Given the description of an element on the screen output the (x, y) to click on. 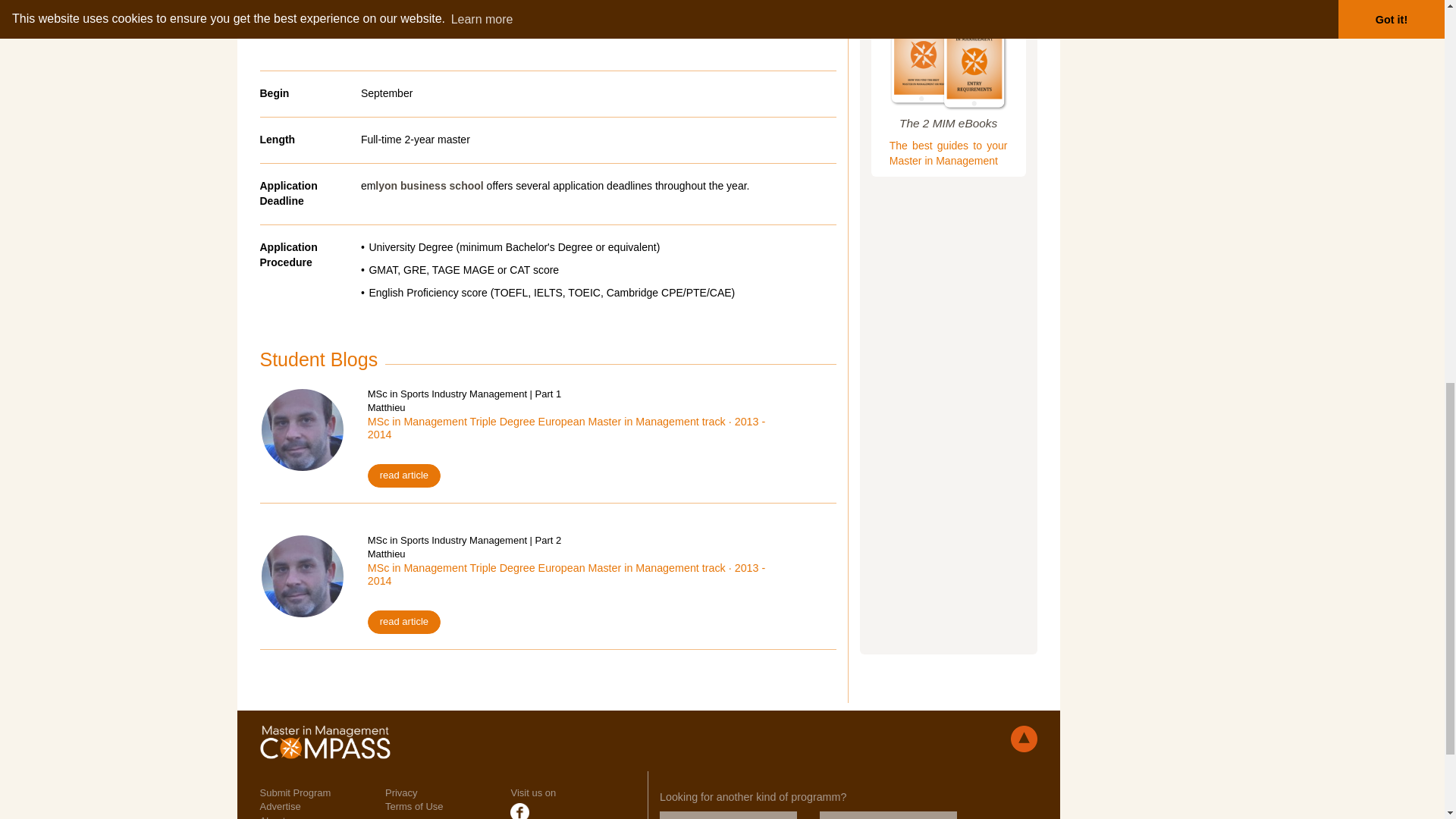
read article (404, 475)
read article (404, 621)
Student Blogs (318, 359)
